Given the description of an element on the screen output the (x, y) to click on. 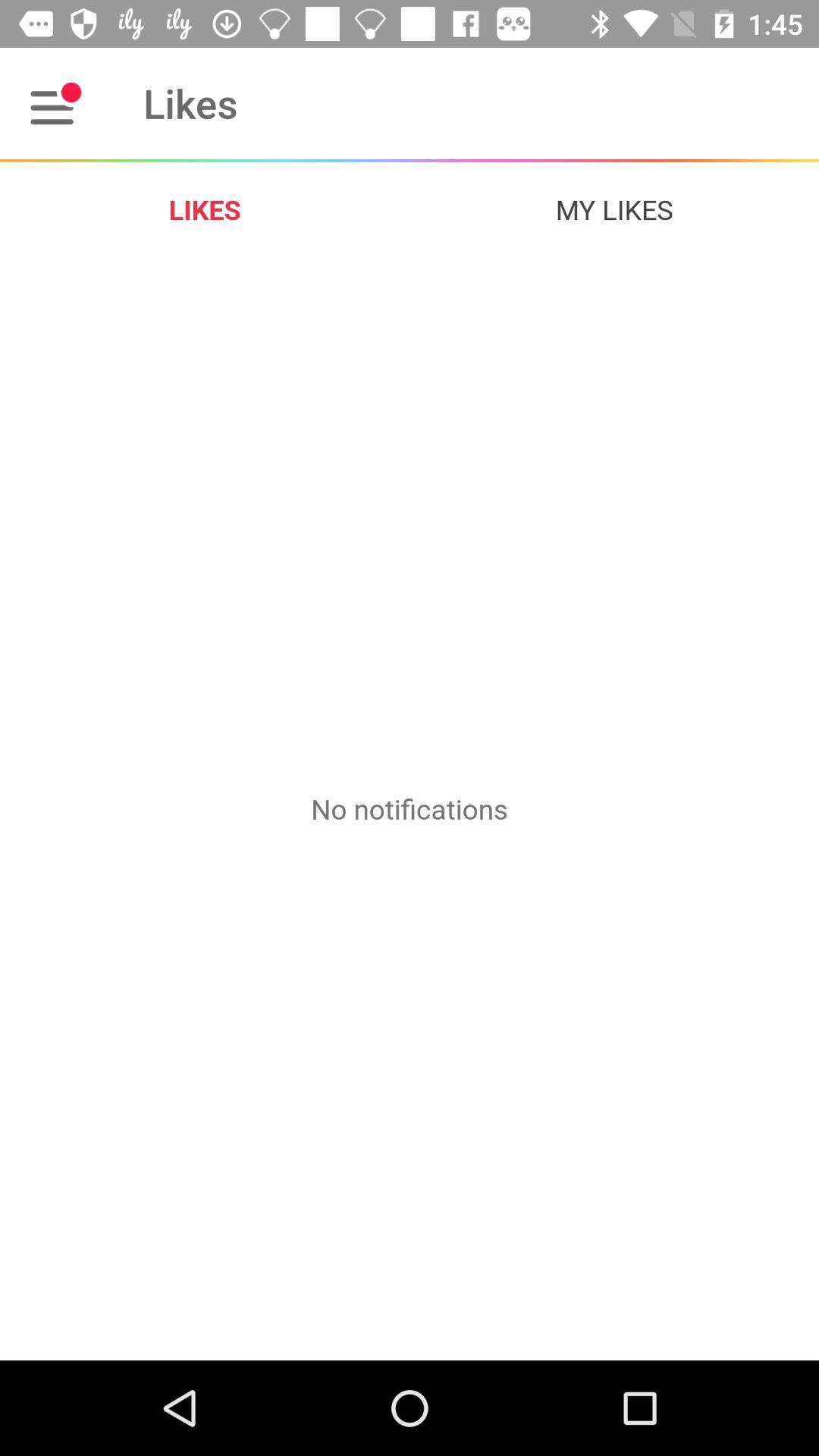
select the item next to likes (614, 209)
